Given the description of an element on the screen output the (x, y) to click on. 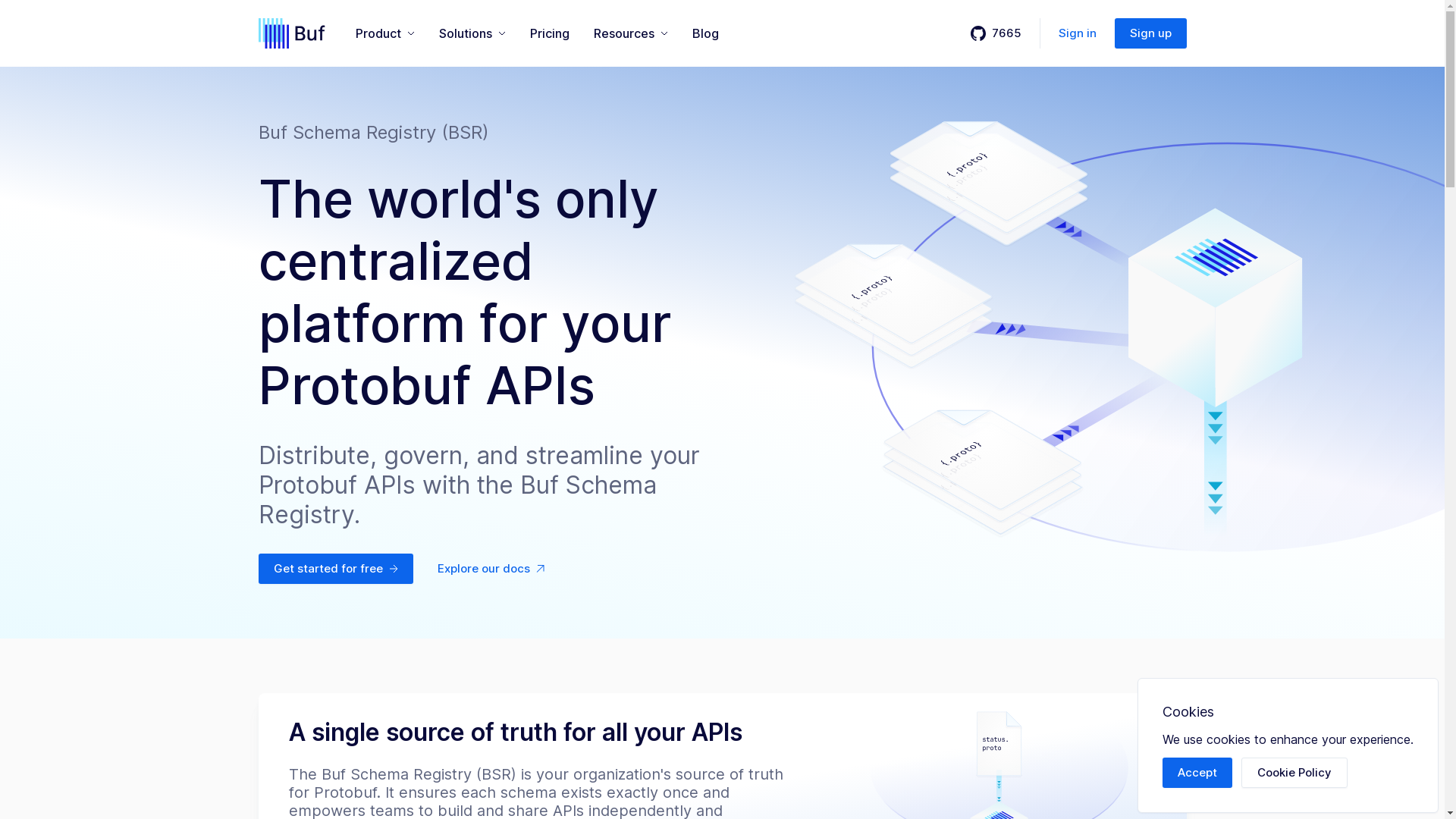
Product Element type: text (384, 33)
Resources Element type: text (630, 33)
Sign up Element type: text (1150, 33)
Sign in Element type: text (1077, 33)
Blog Element type: text (704, 33)
Cookie Policy Element type: text (1294, 772)
Pricing Element type: text (548, 33)
7665 Element type: text (995, 33)
Solutions Element type: text (471, 33)
Explore our docs Element type: text (489, 568)
Accept Element type: text (1197, 772)
Get started for free Element type: text (334, 568)
